Given the description of an element on the screen output the (x, y) to click on. 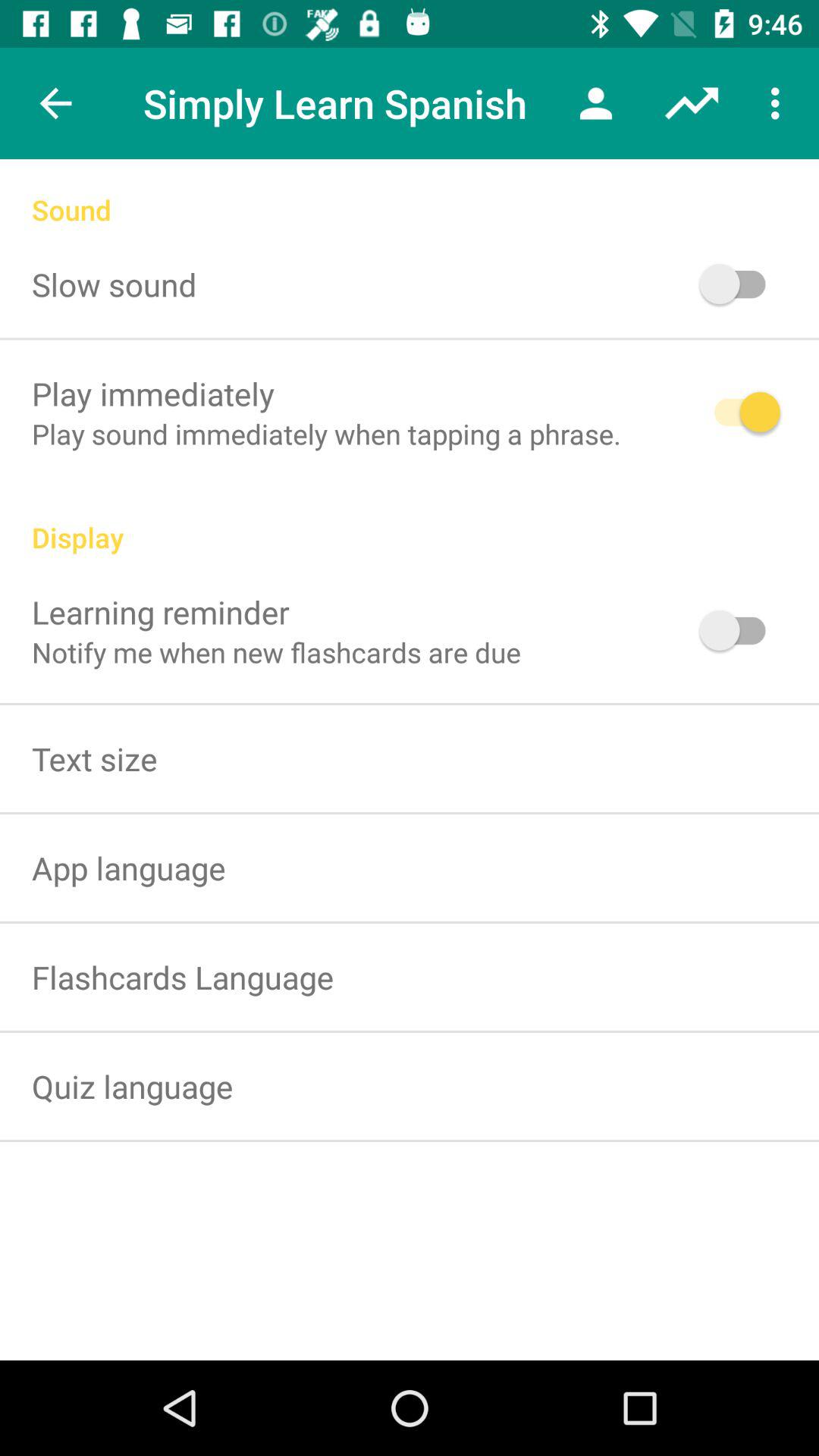
tap the learning reminder item (160, 611)
